Given the description of an element on the screen output the (x, y) to click on. 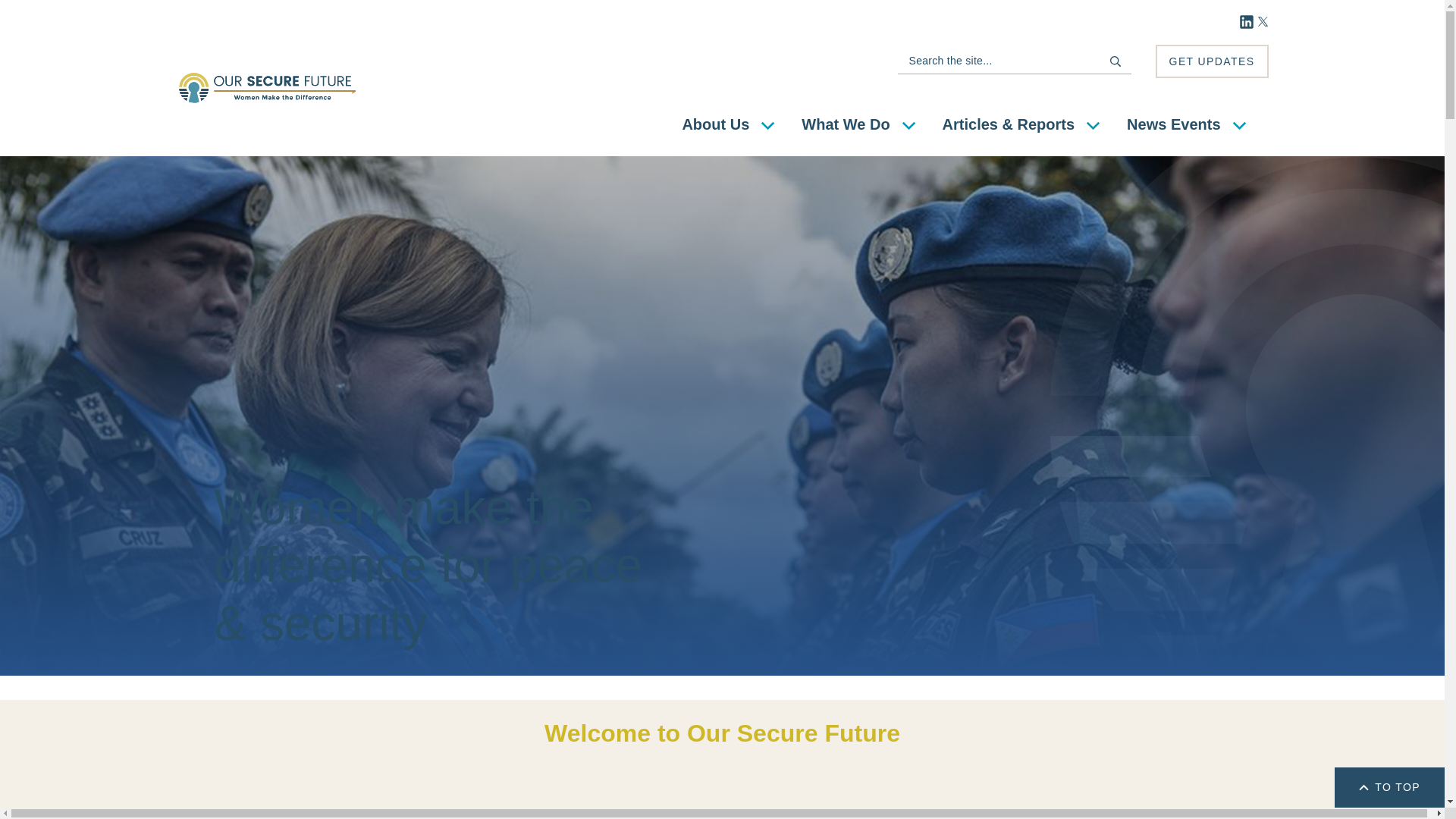
Skip to main content (2, 2)
What We Do (857, 124)
About Us (727, 124)
GET UPDATES (1212, 61)
LinkedIn (1246, 21)
Enter the terms you wish to search for. (1003, 60)
Twitter (1262, 21)
News Events (1185, 124)
Home (267, 87)
Our Secure Future LinkedIn (1246, 21)
